Given the description of an element on the screen output the (x, y) to click on. 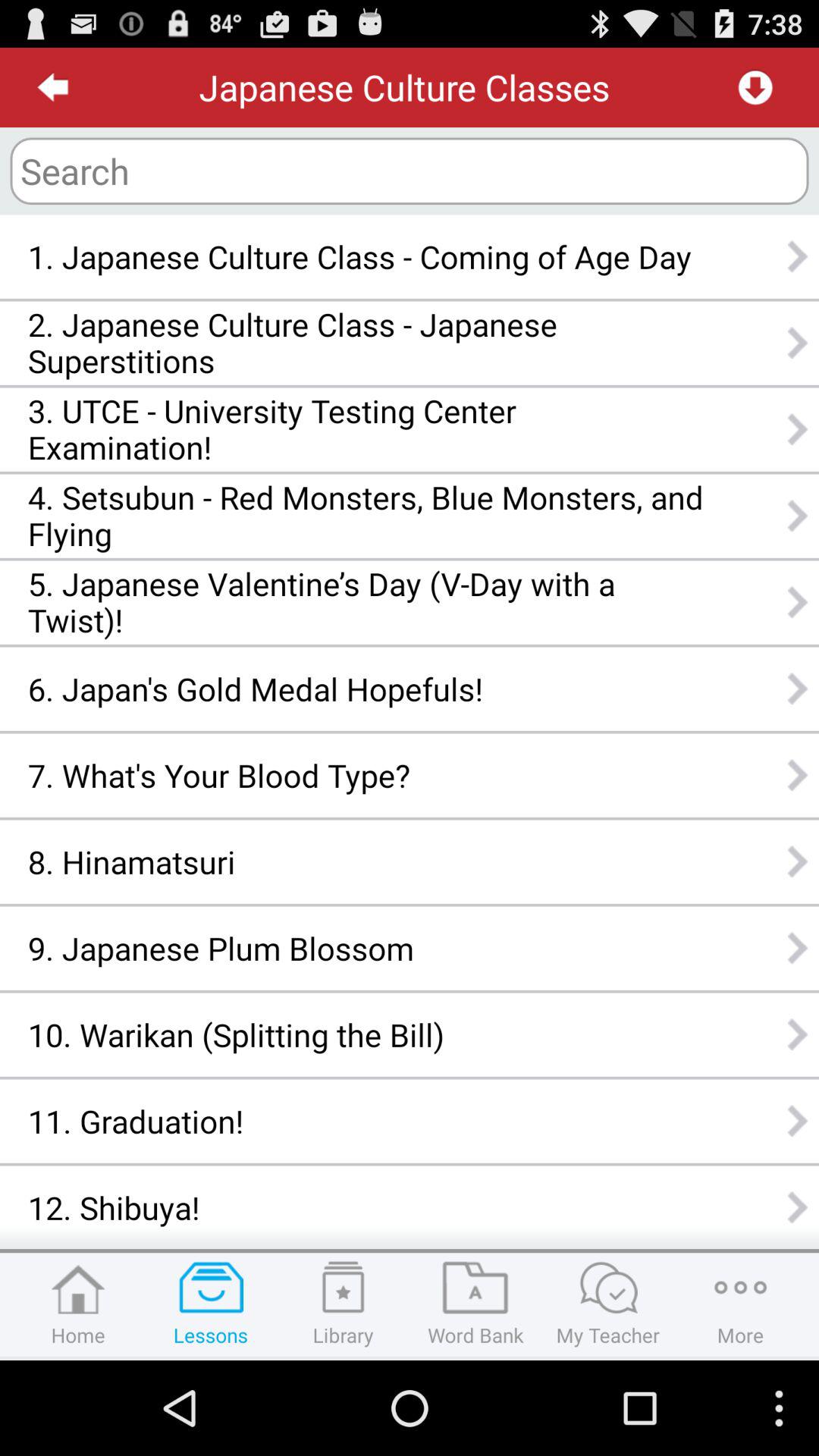
press the app below the 10 warikan splitting item (365, 1121)
